Given the description of an element on the screen output the (x, y) to click on. 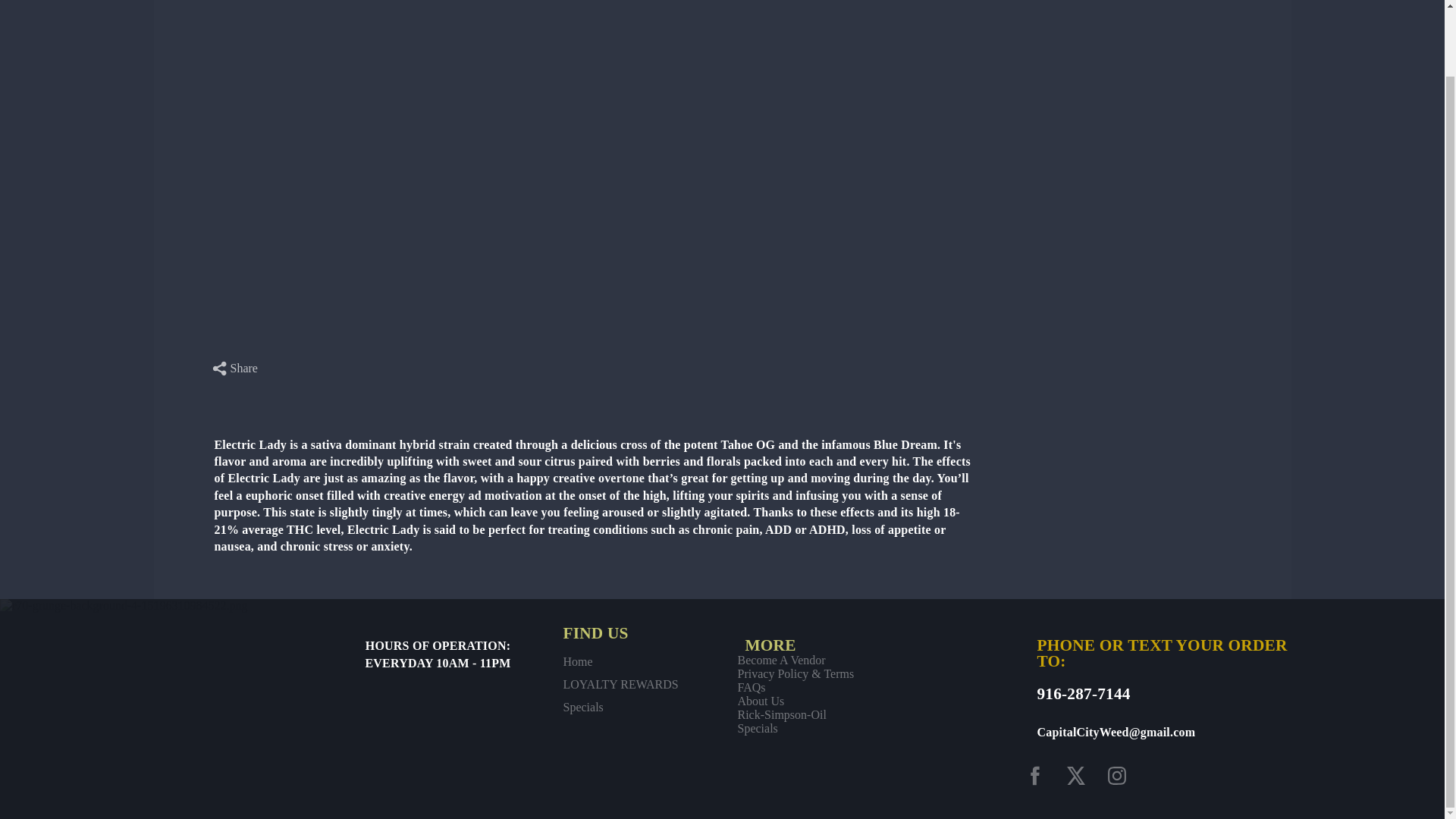
Become A Vendor (794, 660)
About Us (794, 701)
Home (620, 662)
Specials (794, 728)
Rick-Simpson-Oil (794, 714)
Specials (620, 707)
FAQs (794, 687)
LOYALTY REWARDS (620, 684)
